Given the description of an element on the screen output the (x, y) to click on. 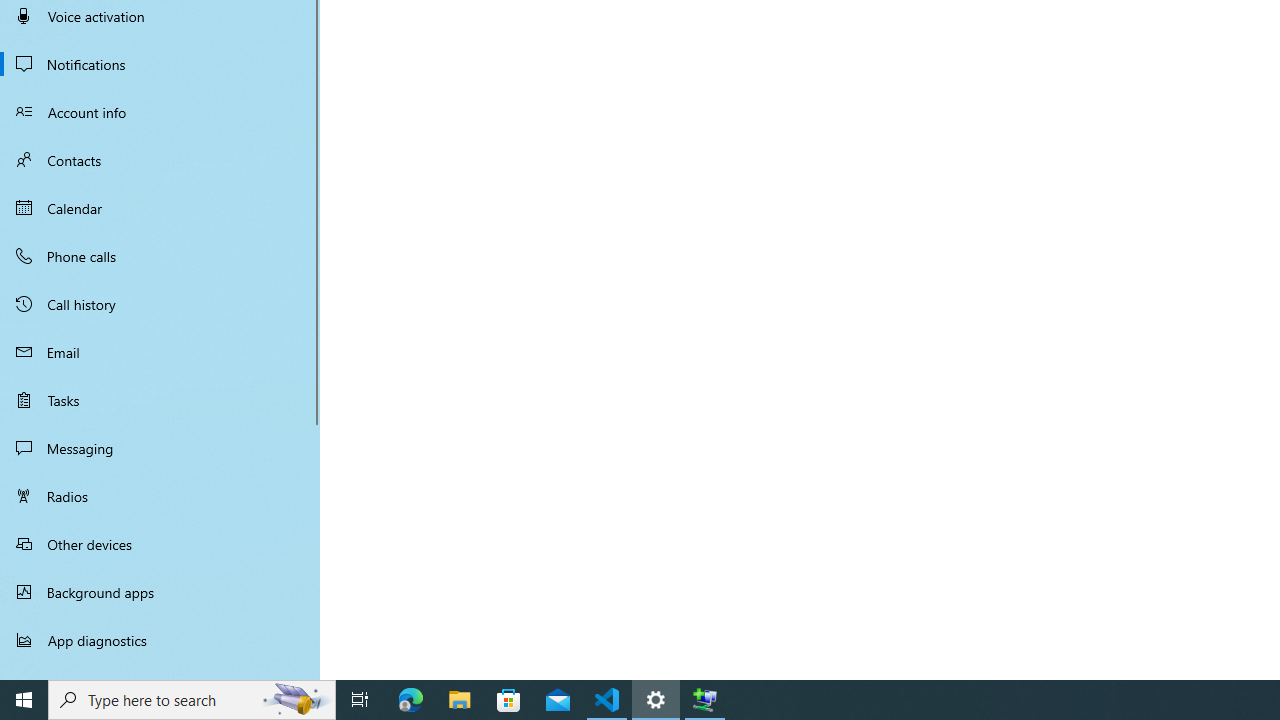
Automatic file downloads (160, 671)
Background apps (160, 592)
Tasks (160, 399)
Other devices (160, 543)
Notifications (160, 63)
Contacts (160, 160)
Phone calls (160, 255)
Email (160, 351)
Radios (160, 495)
